Given the description of an element on the screen output the (x, y) to click on. 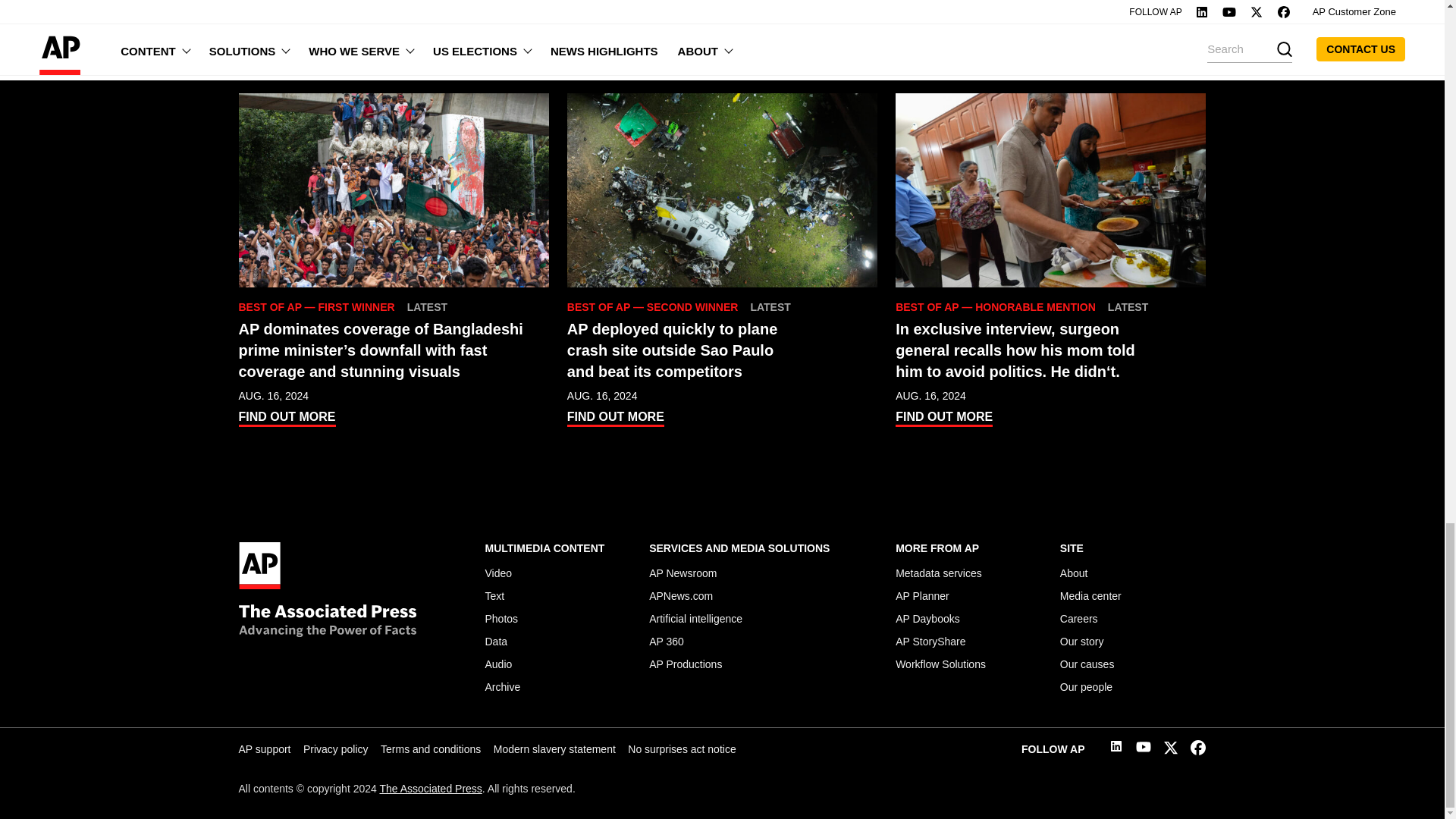
Linkedin (1116, 748)
Youtube (1143, 748)
Twitter (1170, 750)
